Given the description of an element on the screen output the (x, y) to click on. 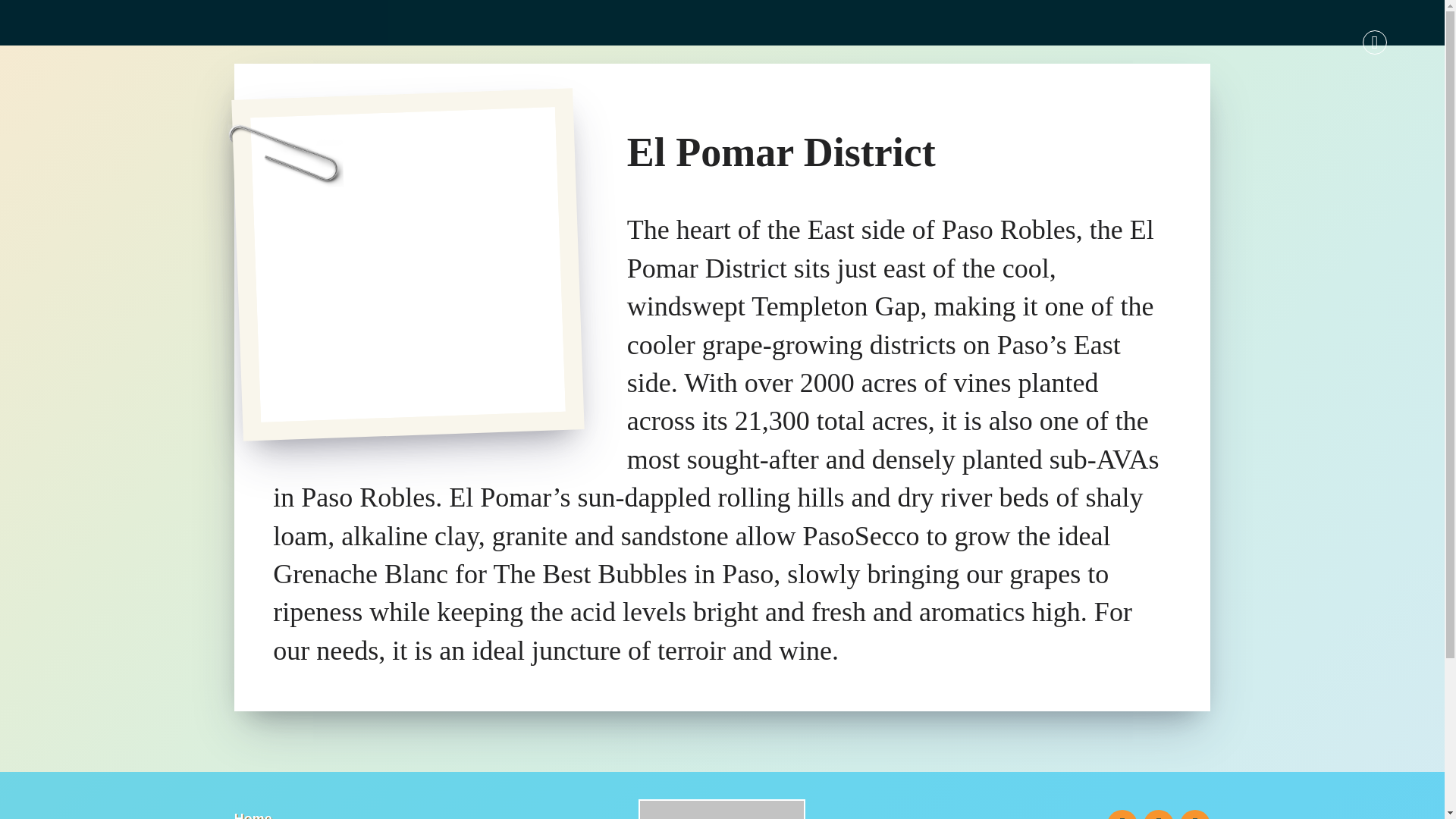
Home (253, 815)
Facebook (1121, 814)
Close Modal (1374, 42)
YouTube (1194, 814)
Instagram (1157, 814)
